Given the description of an element on the screen output the (x, y) to click on. 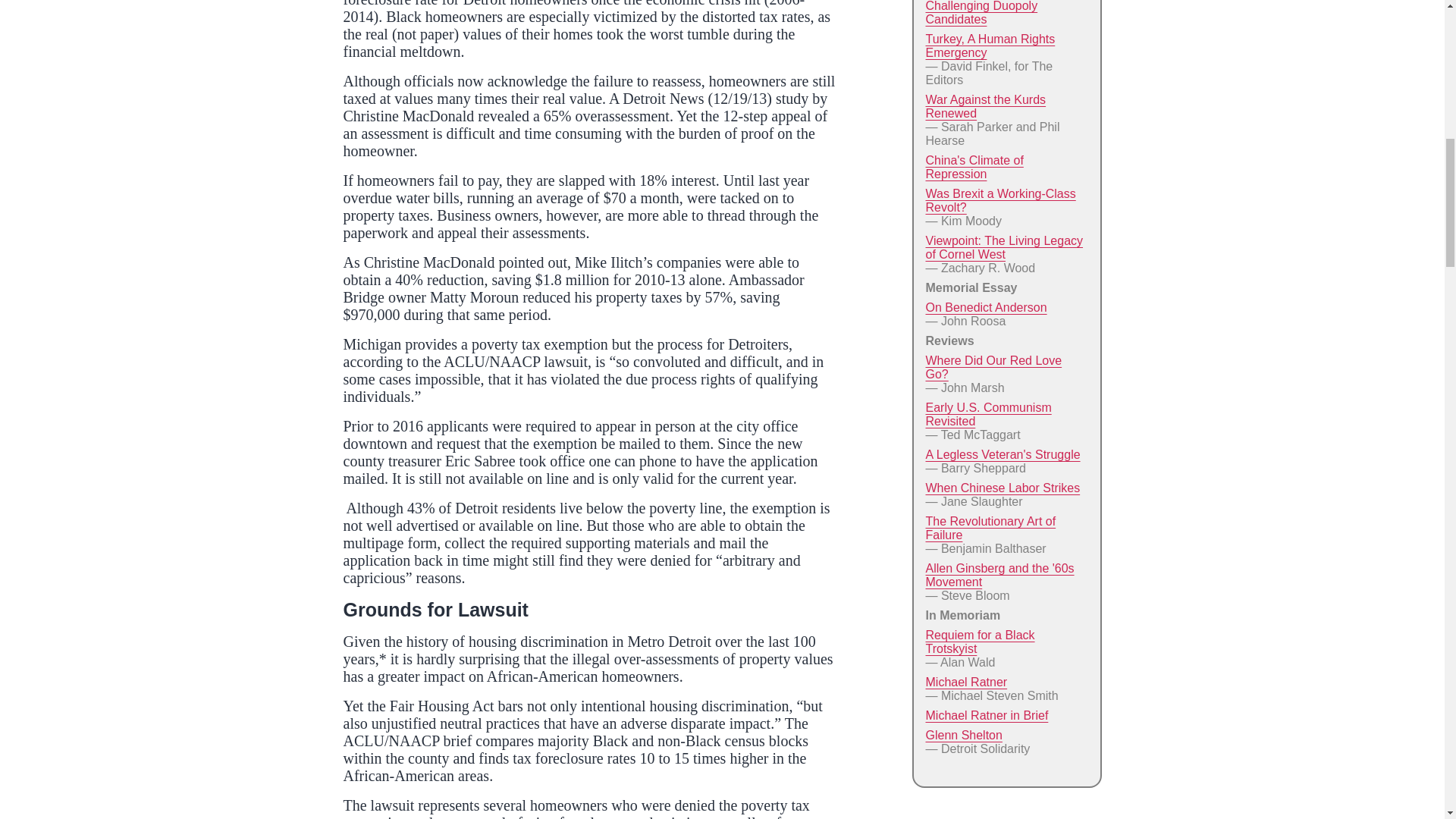
Viewpoint: The Living Legacy of Cornel West (1003, 247)
Where Did Our Red Love Go? (992, 366)
Early U.S. Communism Revisited (987, 414)
China's Climate of Repression (973, 166)
War Against the Kurds Renewed (984, 106)
Challenging Duopoly Candidates (980, 12)
Was Brexit a Working-Class Revolt? (999, 200)
On Benedict Anderson (985, 307)
Turkey, A Human Rights Emergency (989, 45)
